Given the description of an element on the screen output the (x, y) to click on. 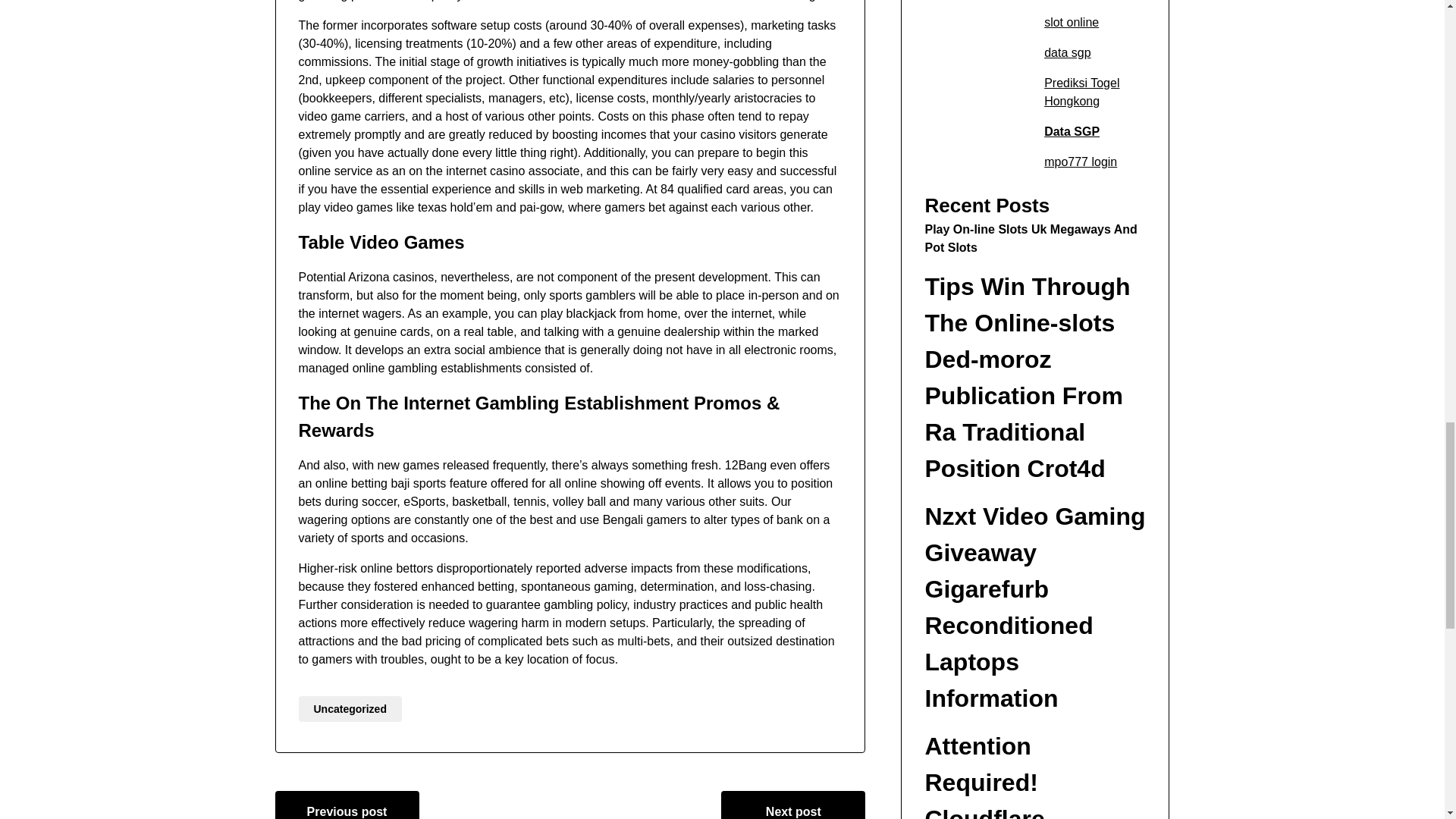
Next post (792, 805)
Uncategorized (349, 708)
Previous post (347, 805)
